Given the description of an element on the screen output the (x, y) to click on. 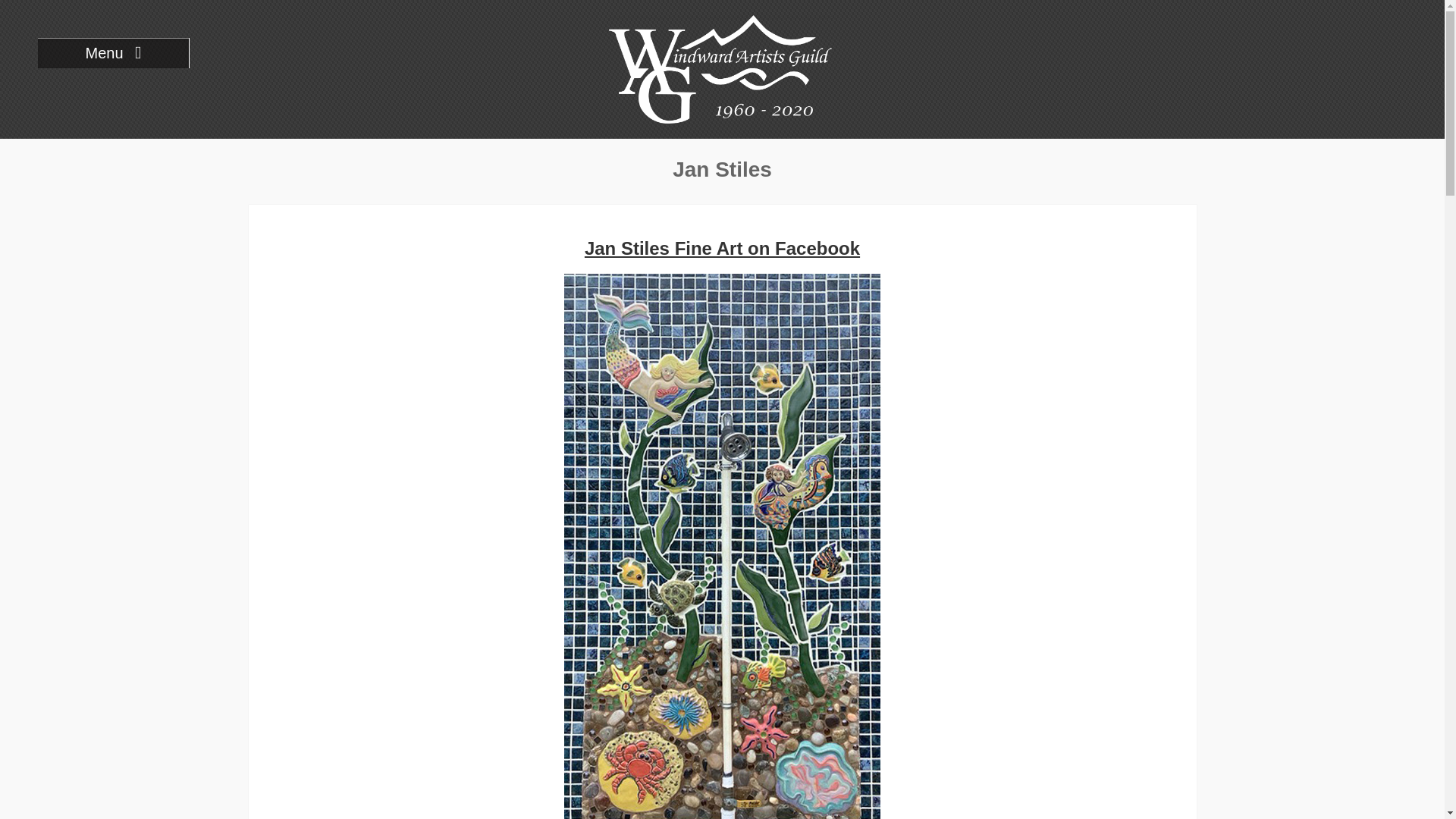
Menu (113, 52)
